Given the description of an element on the screen output the (x, y) to click on. 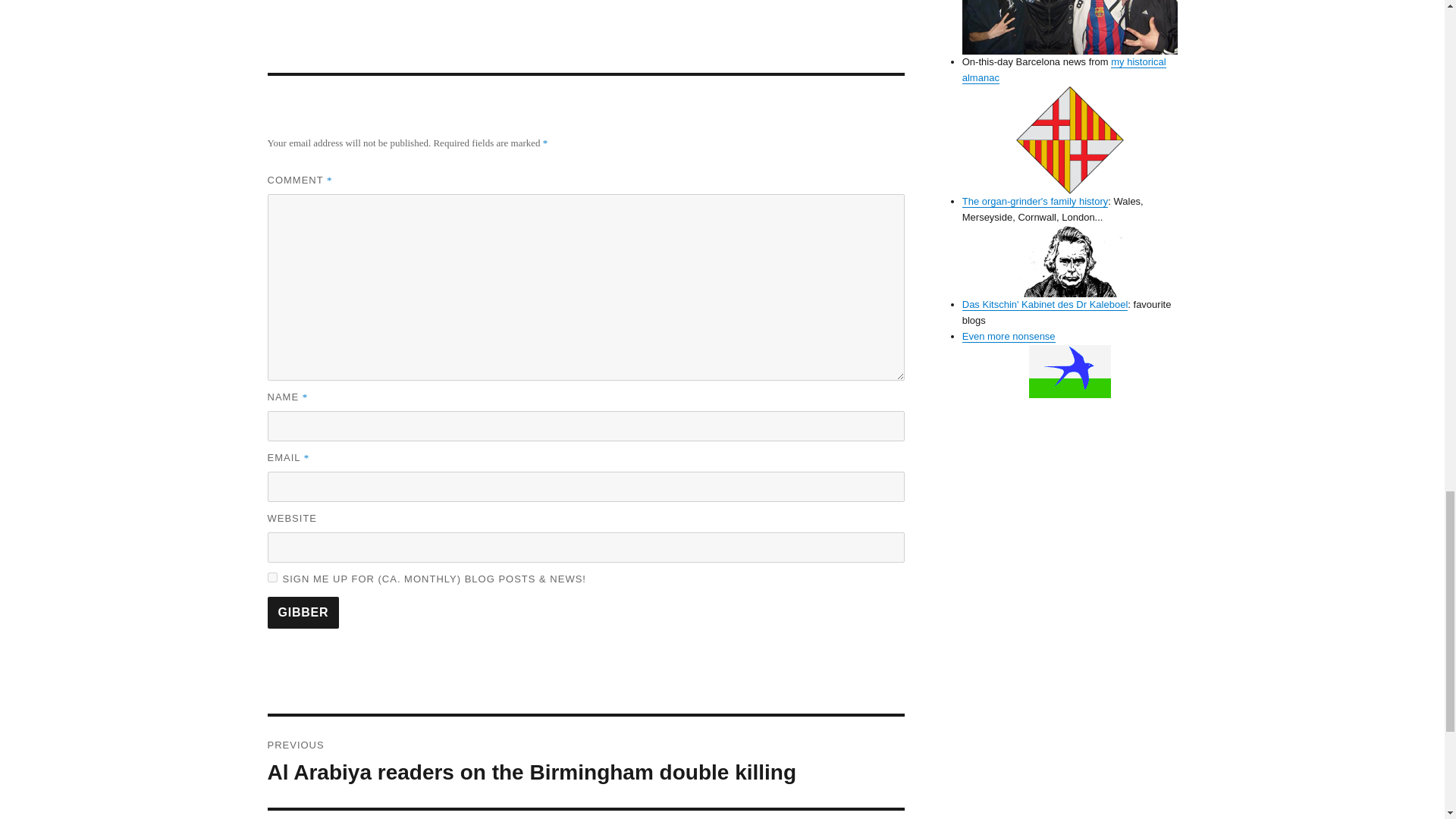
1 (271, 577)
Gibber (302, 612)
